Given the description of an element on the screen output the (x, y) to click on. 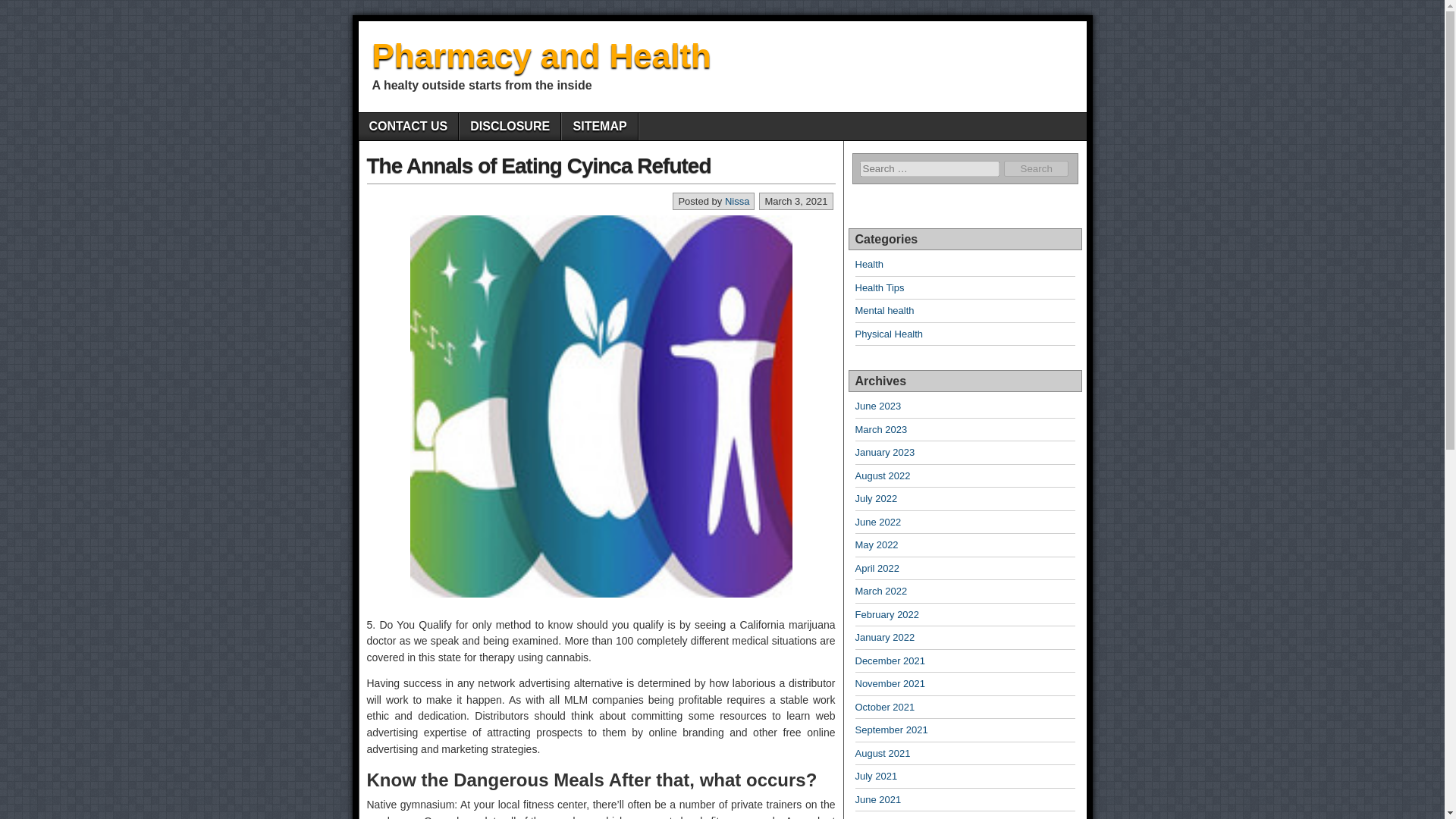
May 2022 (877, 544)
April 2022 (877, 568)
August 2021 (883, 753)
July 2022 (877, 498)
Health Tips (880, 287)
March 2023 (881, 429)
CONTACT US (408, 126)
Nissa (737, 201)
August 2022 (883, 475)
December 2021 (891, 660)
March 2022 (881, 591)
July 2021 (877, 776)
Search (1036, 168)
SITEMAP (599, 126)
June 2022 (878, 521)
